Given the description of an element on the screen output the (x, y) to click on. 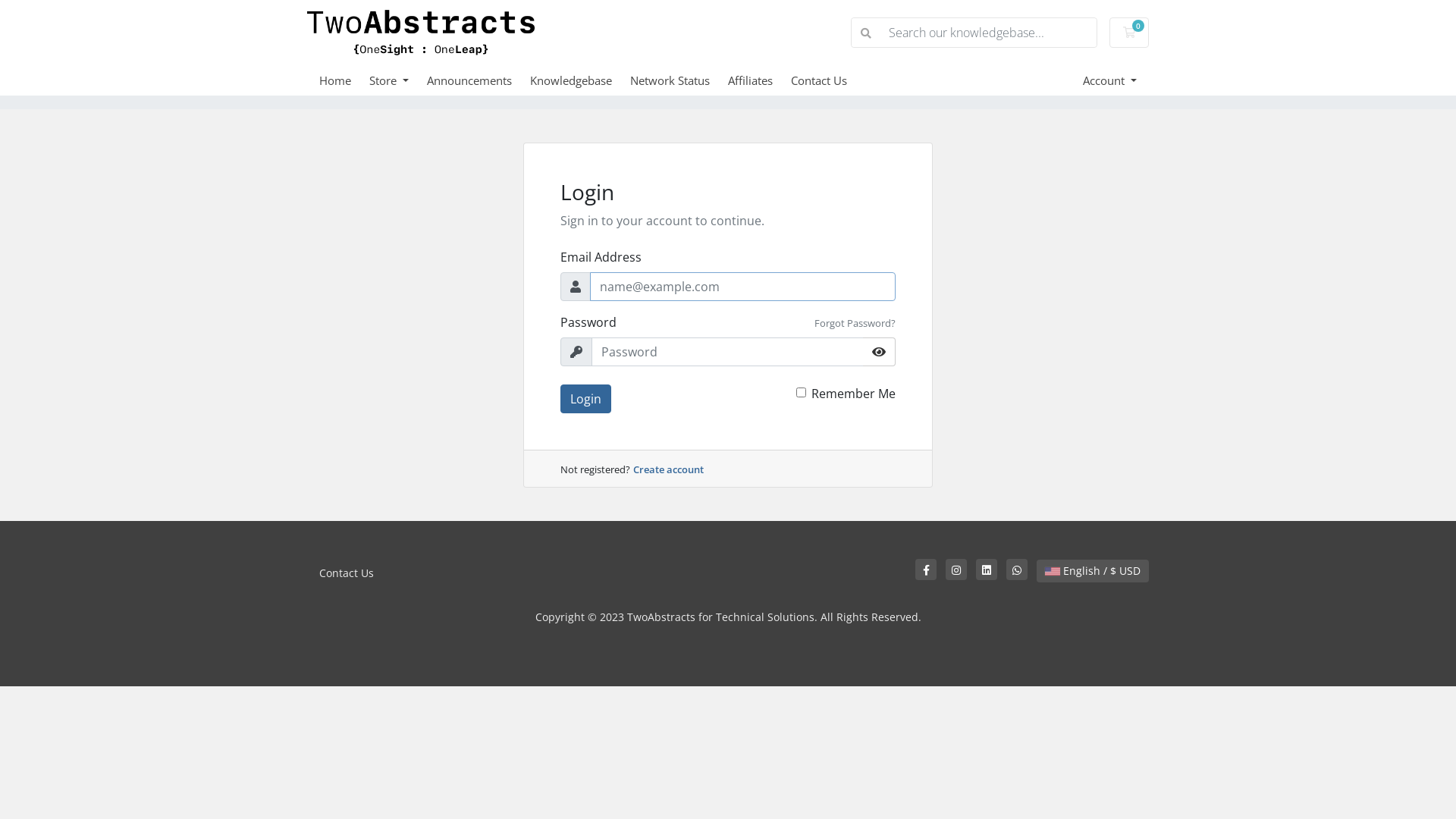
Network Status Element type: text (679, 79)
Knowledgebase Element type: text (580, 79)
Contact Us Element type: text (346, 572)
Store Element type: text (397, 79)
Announcements Element type: text (478, 79)
Login Element type: text (585, 398)
Home Element type: text (344, 79)
Forgot Password? Element type: text (854, 322)
Create account Element type: text (668, 469)
Account Element type: text (1109, 79)
Affiliates Element type: text (759, 79)
Contact Us Element type: text (827, 79)
0
Shopping Cart Element type: text (1128, 32)
English / $ USD Element type: text (1092, 570)
